Given the description of an element on the screen output the (x, y) to click on. 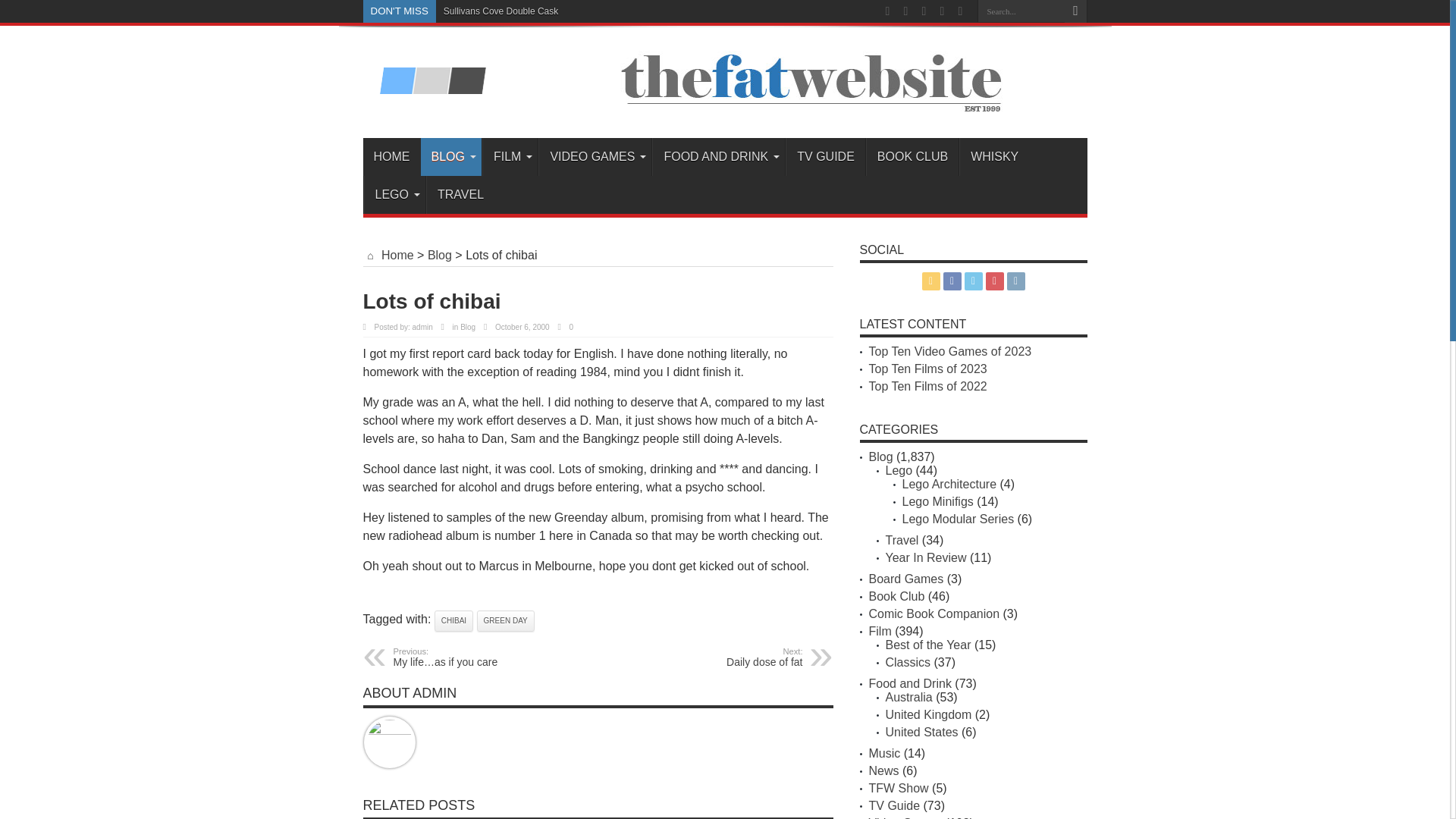
BLOG (450, 157)
WHISKY (994, 157)
Search (1075, 11)
VIDEO GAMES (594, 157)
LEGO (394, 194)
Blog (468, 326)
FILM (509, 157)
BOOK CLUB (912, 157)
Sullivans Cove Double Cask (500, 11)
Sullivans Cove Double Cask (500, 11)
